Given the description of an element on the screen output the (x, y) to click on. 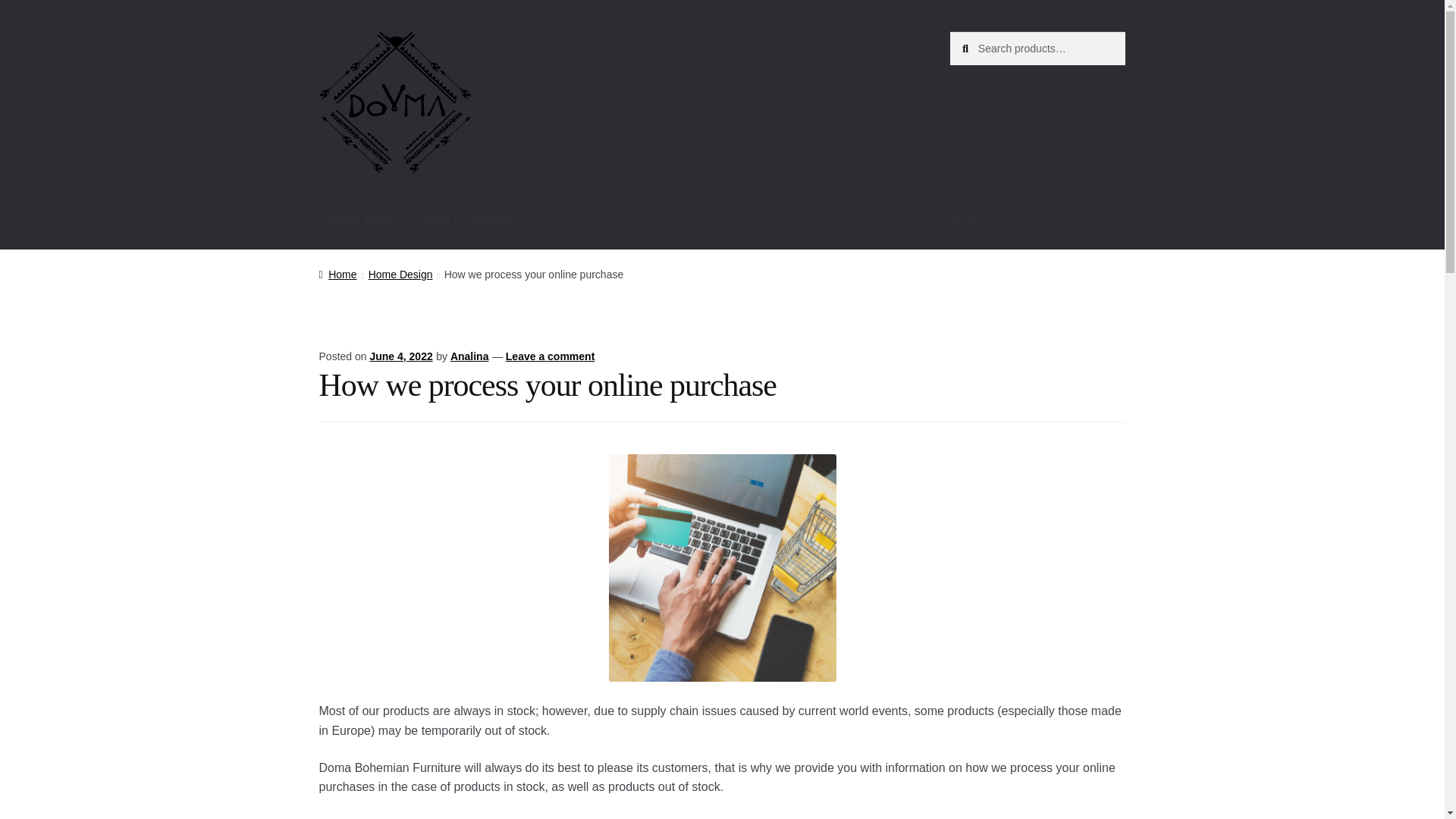
Analina (469, 356)
Cabinet Beds (355, 218)
June 4, 2022 (400, 356)
Home (337, 274)
Home Design (400, 274)
Leave a comment (550, 356)
View your shopping cart (1037, 218)
